Given the description of an element on the screen output the (x, y) to click on. 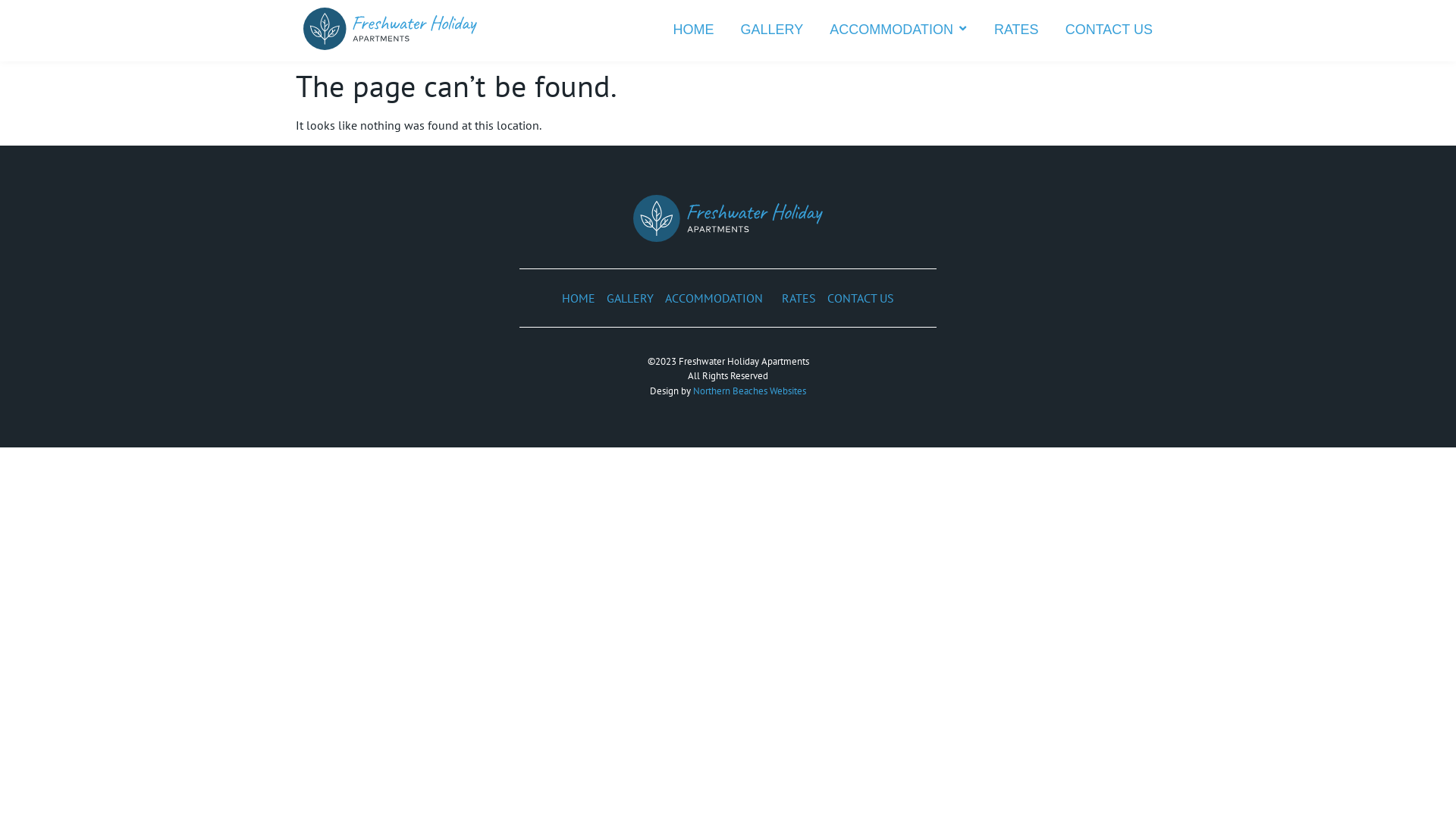
RATES Element type: text (1016, 29)
CONTACT US Element type: text (1108, 29)
GALLERY Element type: text (771, 29)
CONTACT US Element type: text (860, 297)
HOME Element type: text (693, 29)
ACCOMMODATION Element type: text (898, 29)
RATES Element type: text (798, 297)
Northern Beaches Websites Element type: text (749, 390)
ACCOMMODATION Element type: text (717, 297)
HOME Element type: text (578, 297)
GALLERY Element type: text (629, 297)
